Given the description of an element on the screen output the (x, y) to click on. 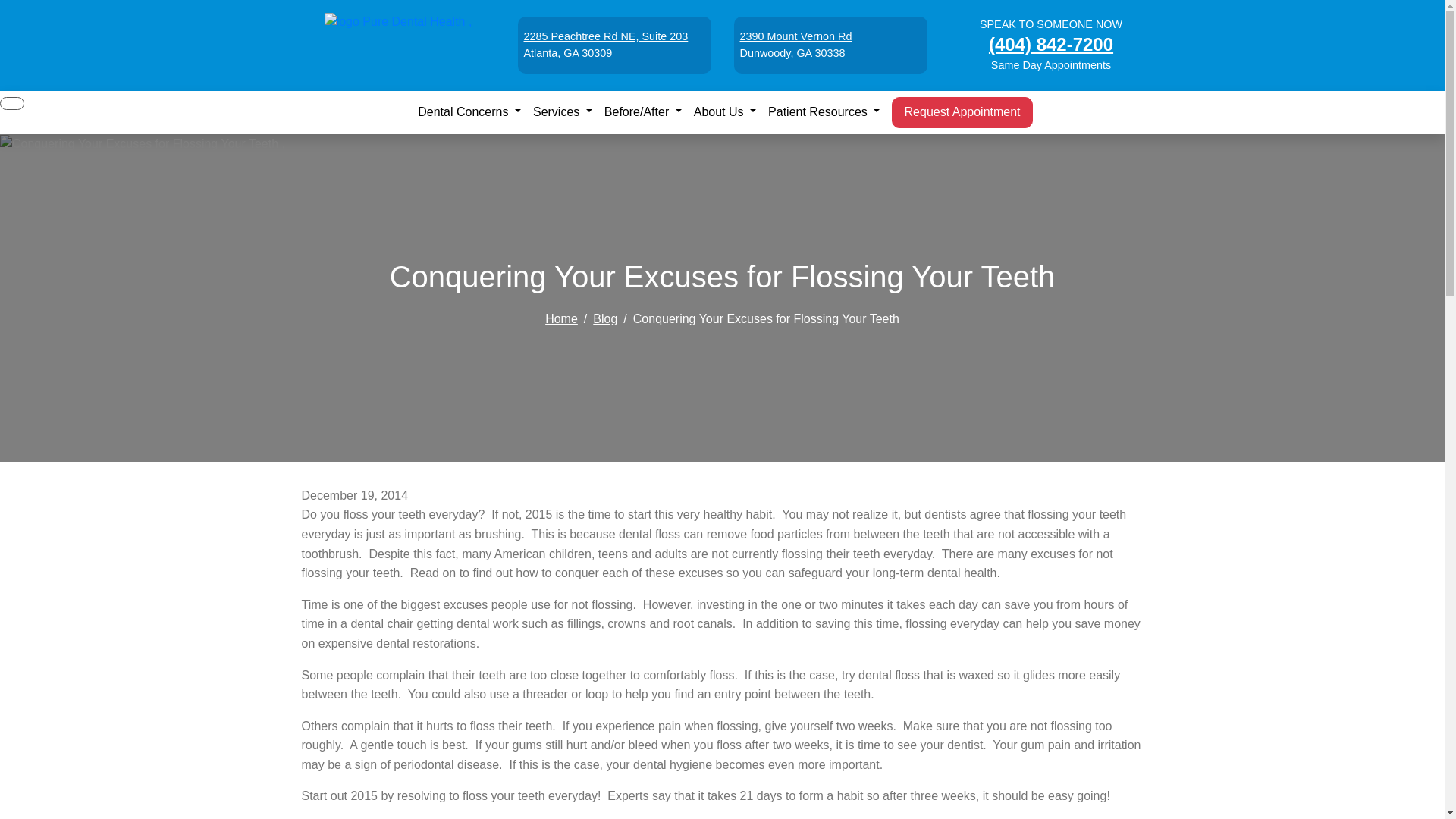
Switch to High color contrast version of the website (12, 103)
Skip to main content (12, 6)
Services (613, 44)
Dental Concerns (562, 112)
